Given the description of an element on the screen output the (x, y) to click on. 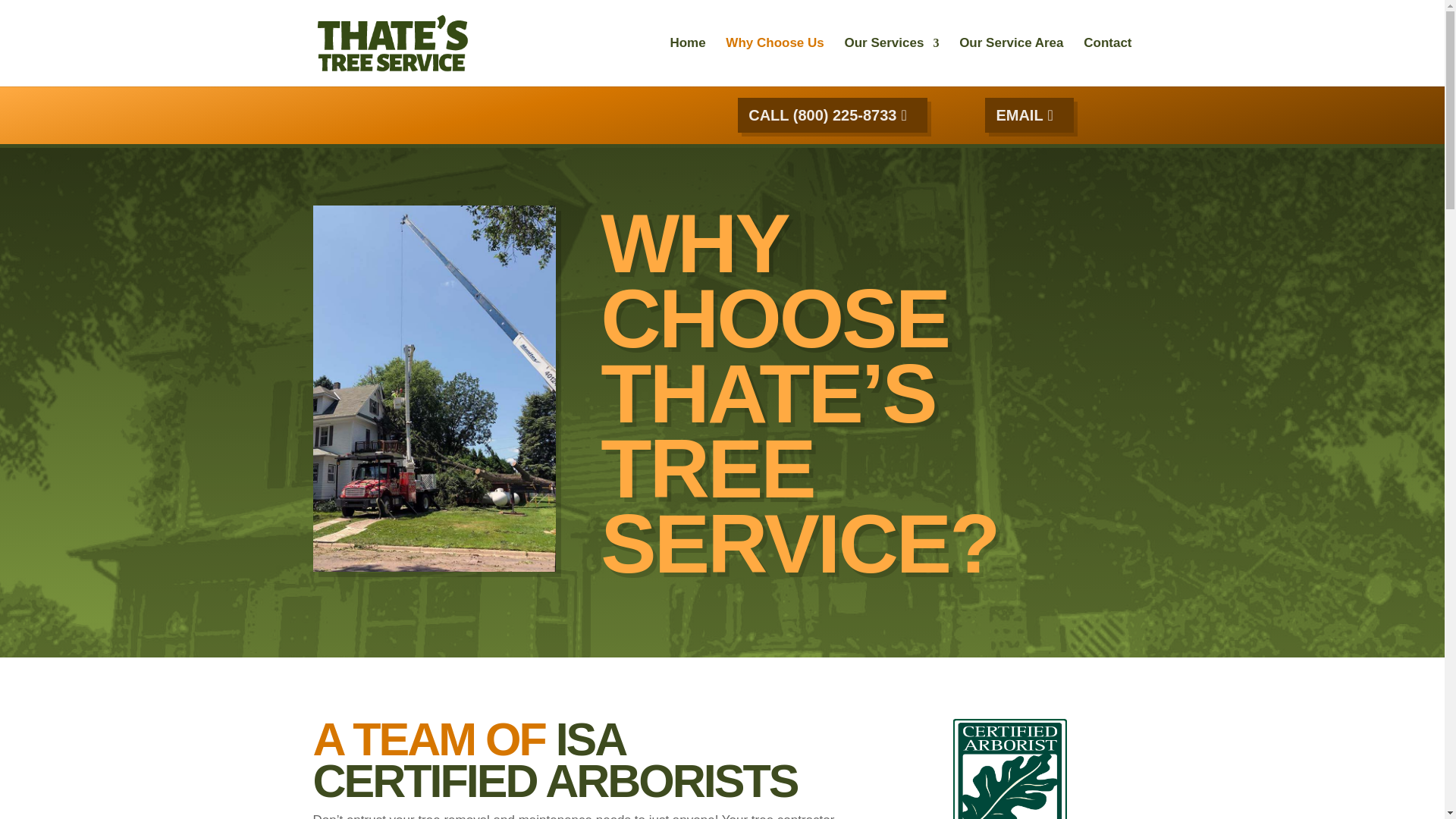
Our Service Area (1010, 61)
logo-ISA (1010, 769)
EMAIL (1029, 114)
Contact (1107, 61)
Why Choose Us (774, 61)
Our Services (891, 61)
